Given the description of an element on the screen output the (x, y) to click on. 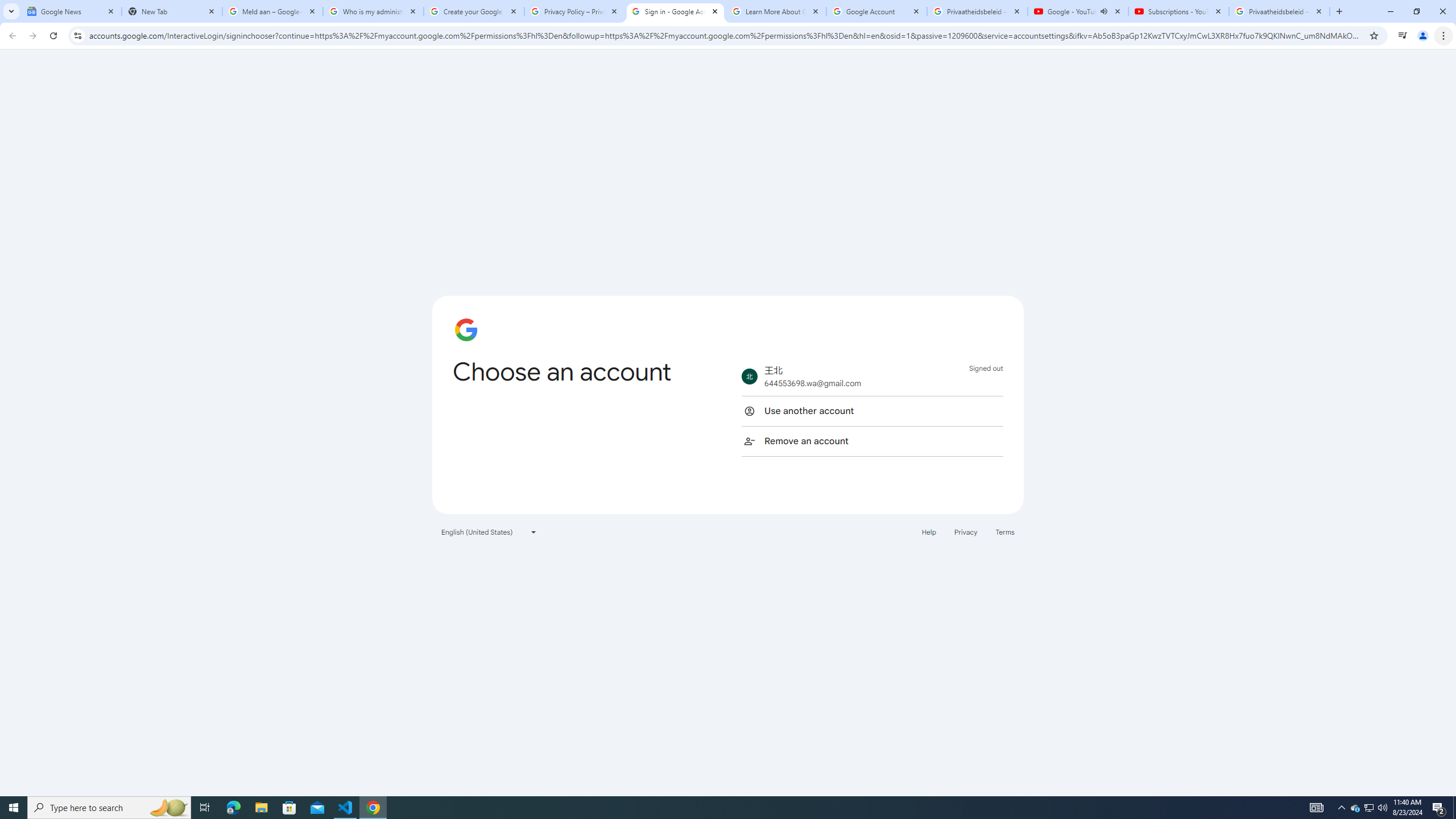
Who is my administrator? - Google Account Help (373, 11)
Remove an account (871, 440)
Control your music, videos, and more (1402, 35)
Google Account (876, 11)
Privacy (965, 531)
Use another account (871, 410)
